Given the description of an element on the screen output the (x, y) to click on. 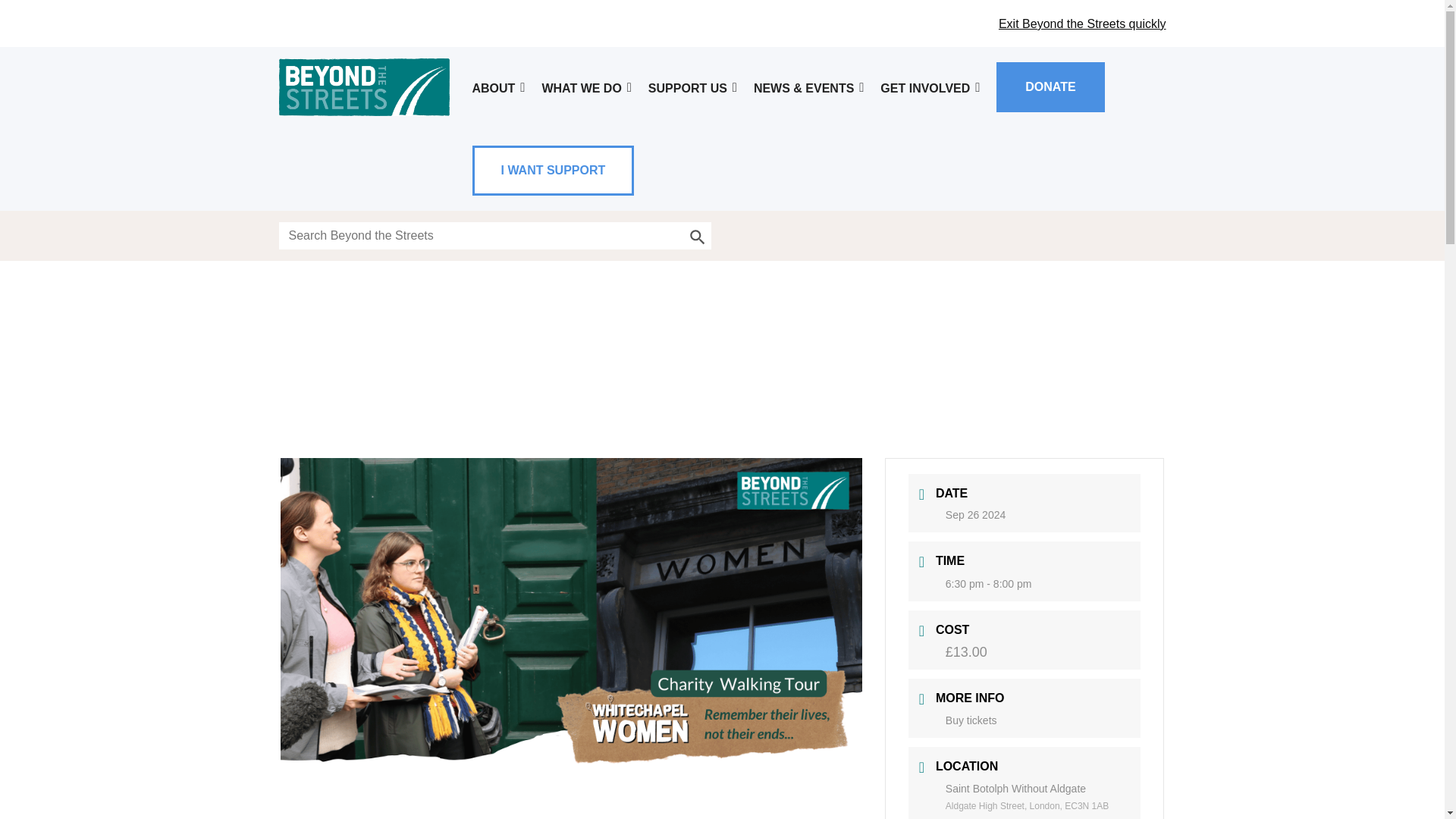
Support us (692, 87)
GET INVOLVED (930, 87)
ABOUT (498, 87)
SUPPORT US (692, 87)
About (498, 87)
Search Button (697, 235)
WHAT WE DO (586, 87)
What we do (586, 87)
DONATE (1050, 86)
Exit Beyond the Streets quickly (1082, 23)
I WANT SUPPORT (552, 170)
